Given the description of an element on the screen output the (x, y) to click on. 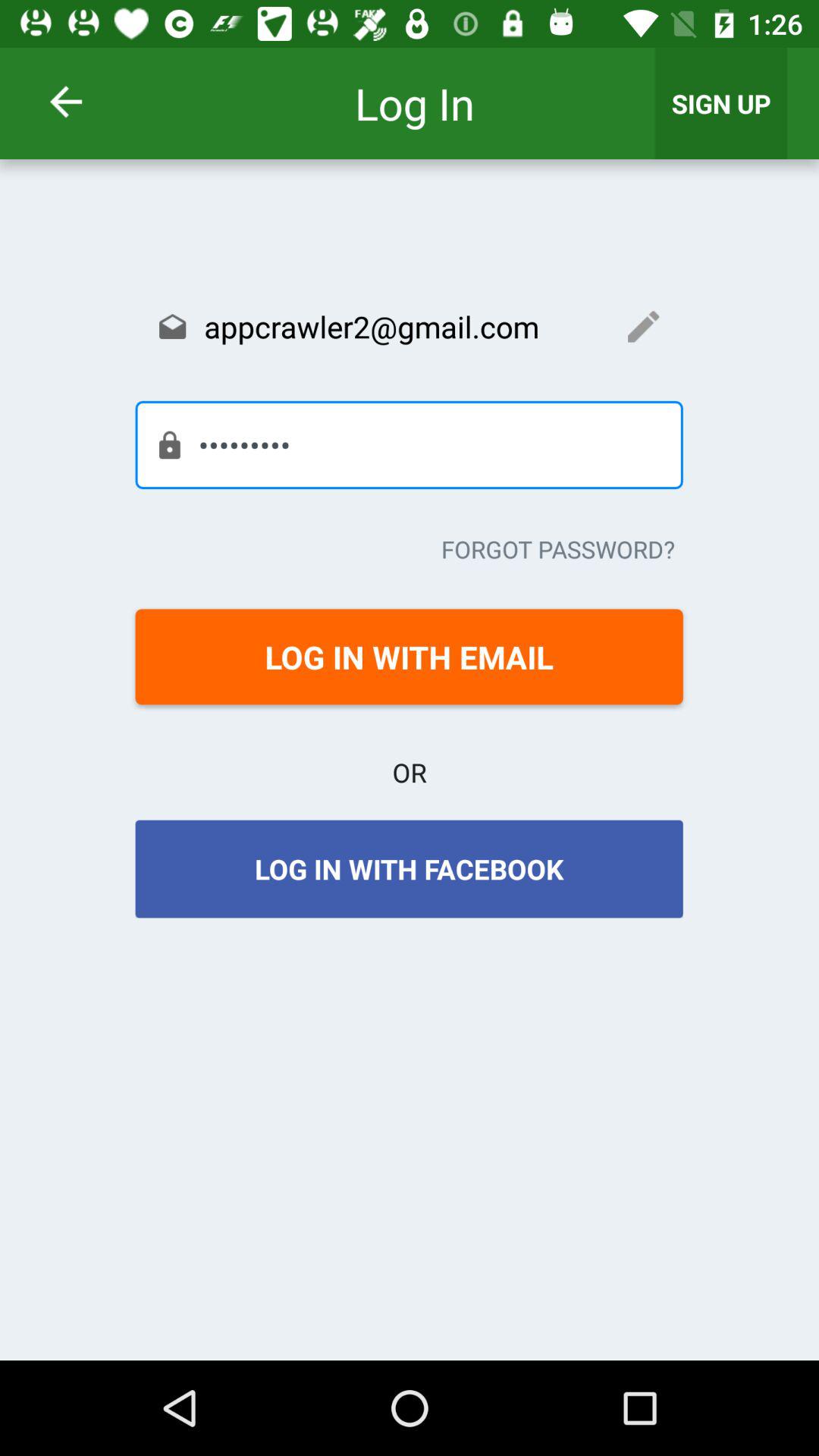
click item above the forgot password? icon (409, 444)
